Given the description of an element on the screen output the (x, y) to click on. 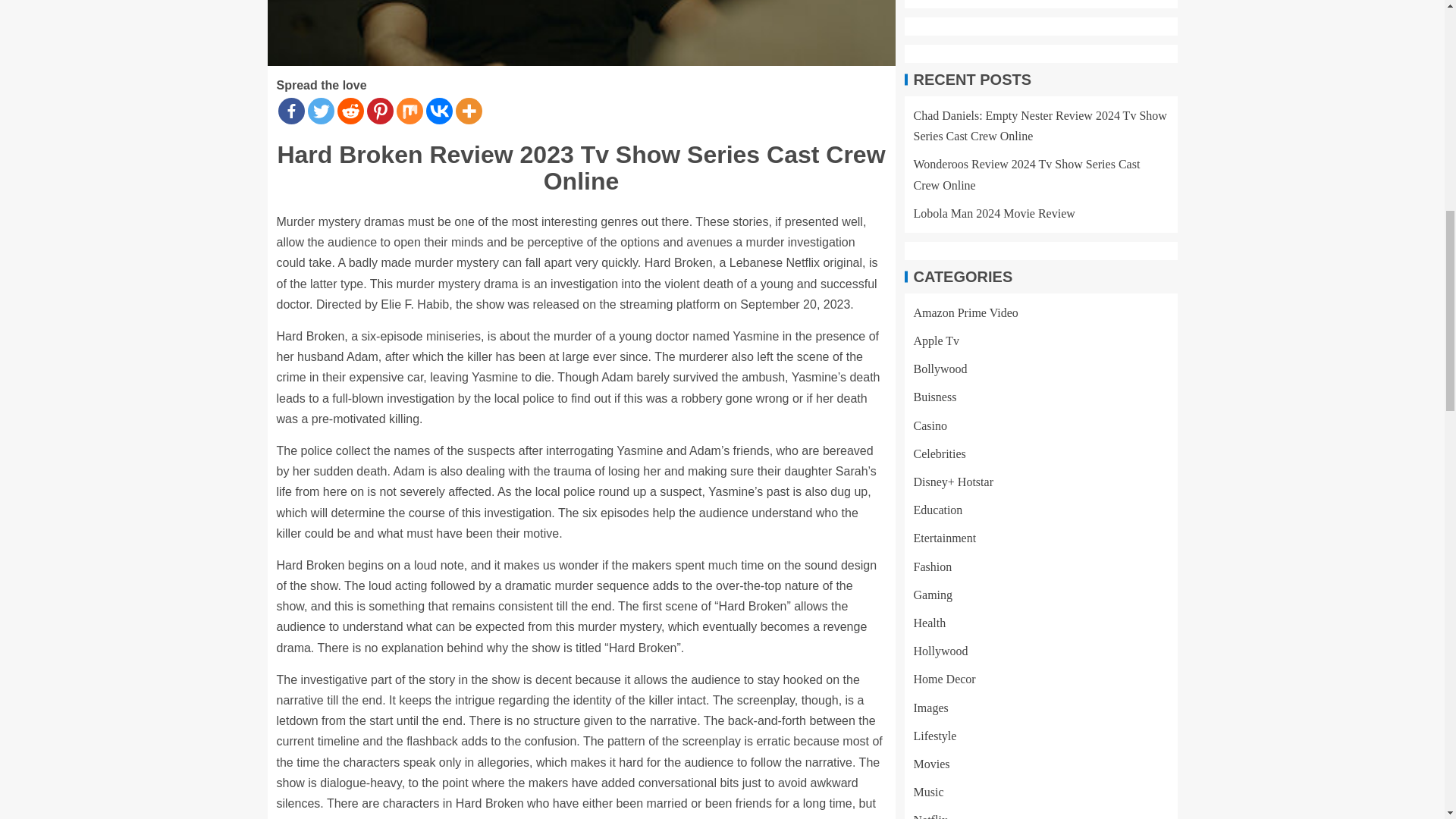
Reddit (349, 110)
Pinterest (379, 110)
More (467, 110)
Facebook (291, 110)
Mix (409, 110)
Twitter (320, 110)
Vkontakte (439, 110)
